Given the description of an element on the screen output the (x, y) to click on. 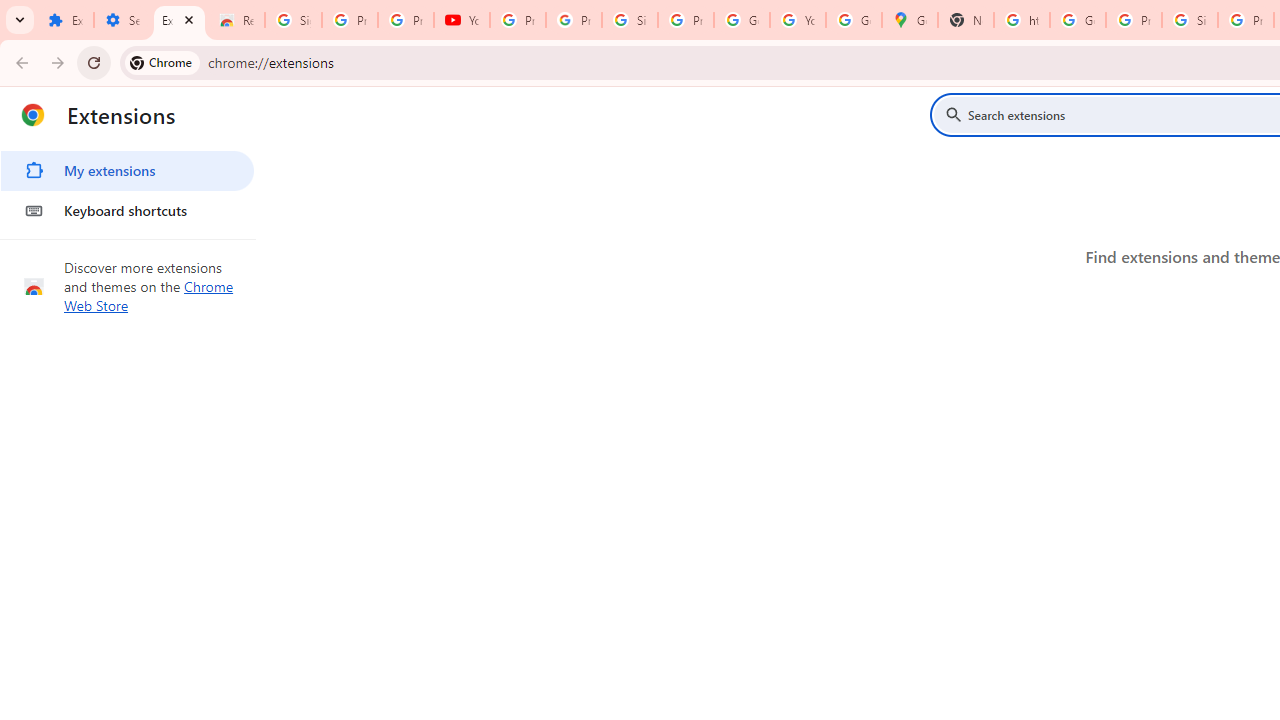
Chrome Web Store (149, 296)
Sign in - Google Accounts (629, 20)
Extensions (179, 20)
Sign in - Google Accounts (293, 20)
https://scholar.google.com/ (1021, 20)
New Tab (966, 20)
AutomationID: sectionMenu (128, 187)
